Given the description of an element on the screen output the (x, y) to click on. 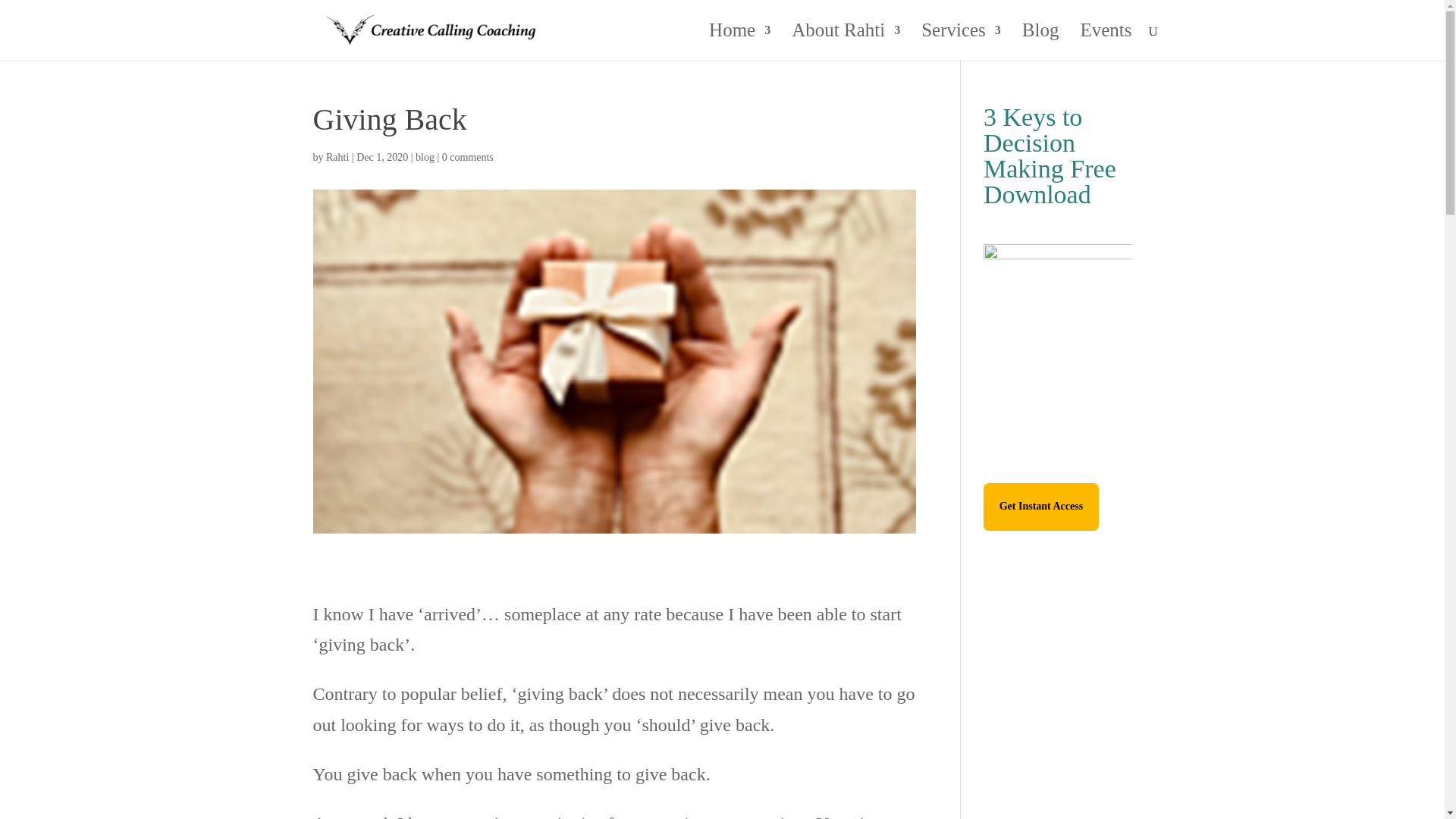
Posts by Rahti (337, 156)
Services (961, 42)
About Rahti (845, 42)
Blog (1040, 42)
Rahti (337, 156)
Events (1105, 42)
Get Instant Access (1041, 506)
Home (739, 42)
blog (423, 156)
0 comments (467, 156)
